Given the description of an element on the screen output the (x, y) to click on. 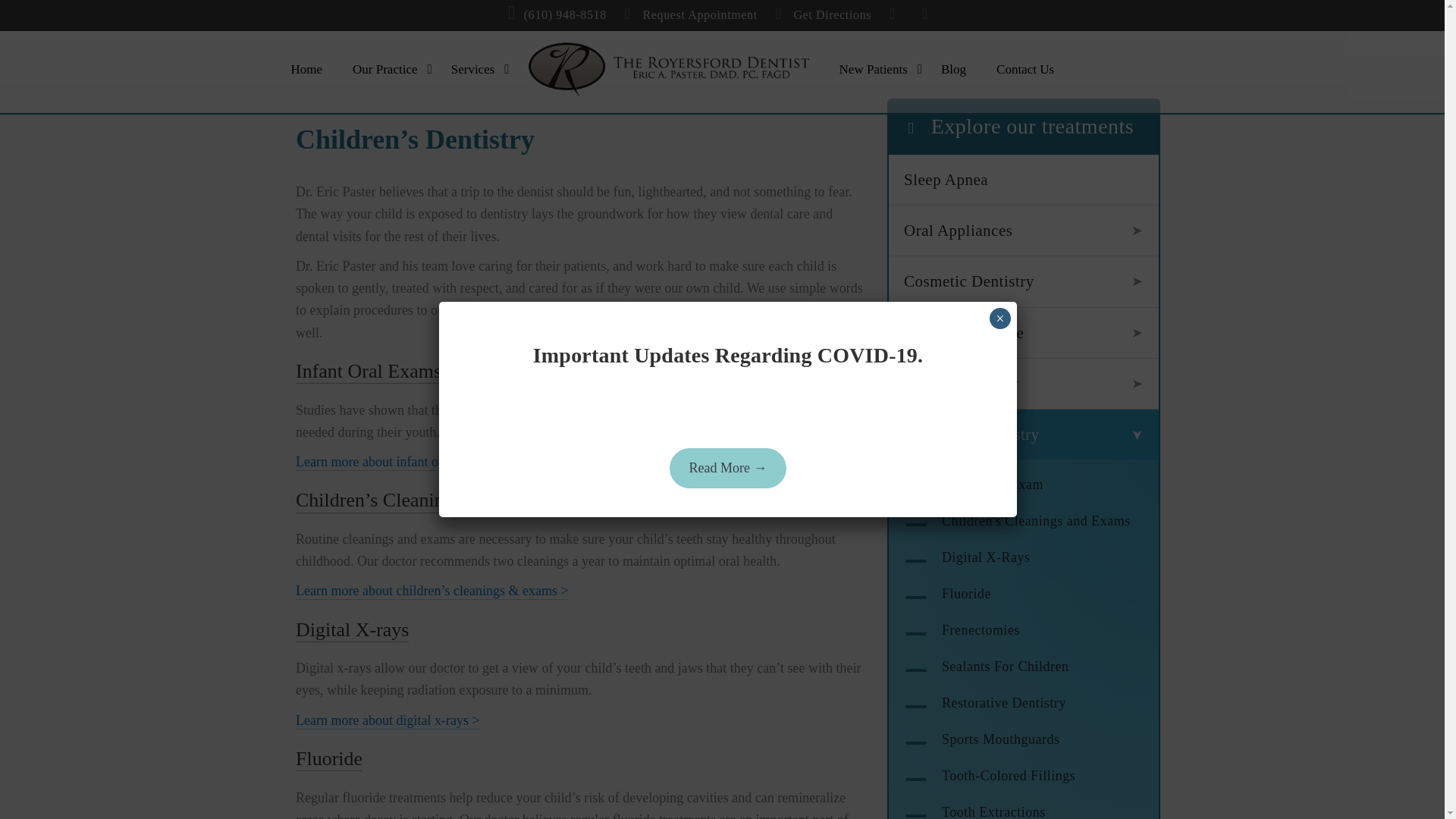
Our Practice (386, 69)
 Get Directions (823, 15)
 Request Appointment (690, 15)
logo (668, 69)
New Patients (875, 69)
Our Practice (386, 69)
